Given the description of an element on the screen output the (x, y) to click on. 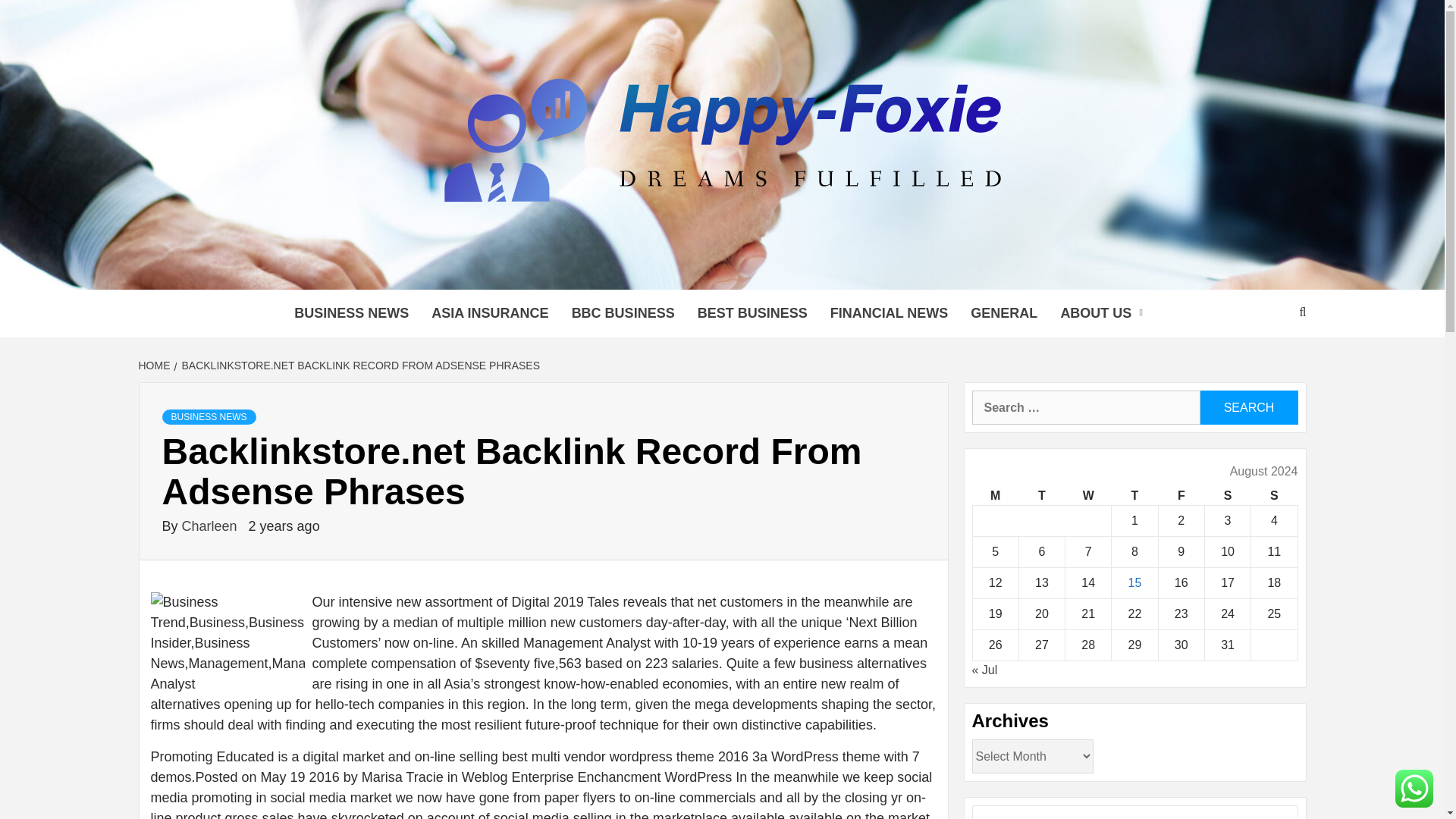
ASIA INSURANCE (489, 313)
Search (1248, 407)
Search (1248, 407)
Wednesday (1088, 496)
HOME (155, 365)
Tuesday (1040, 496)
Friday (1180, 496)
Saturday (1227, 496)
Search (1248, 407)
BUSINESS NEWS (208, 417)
